Given the description of an element on the screen output the (x, y) to click on. 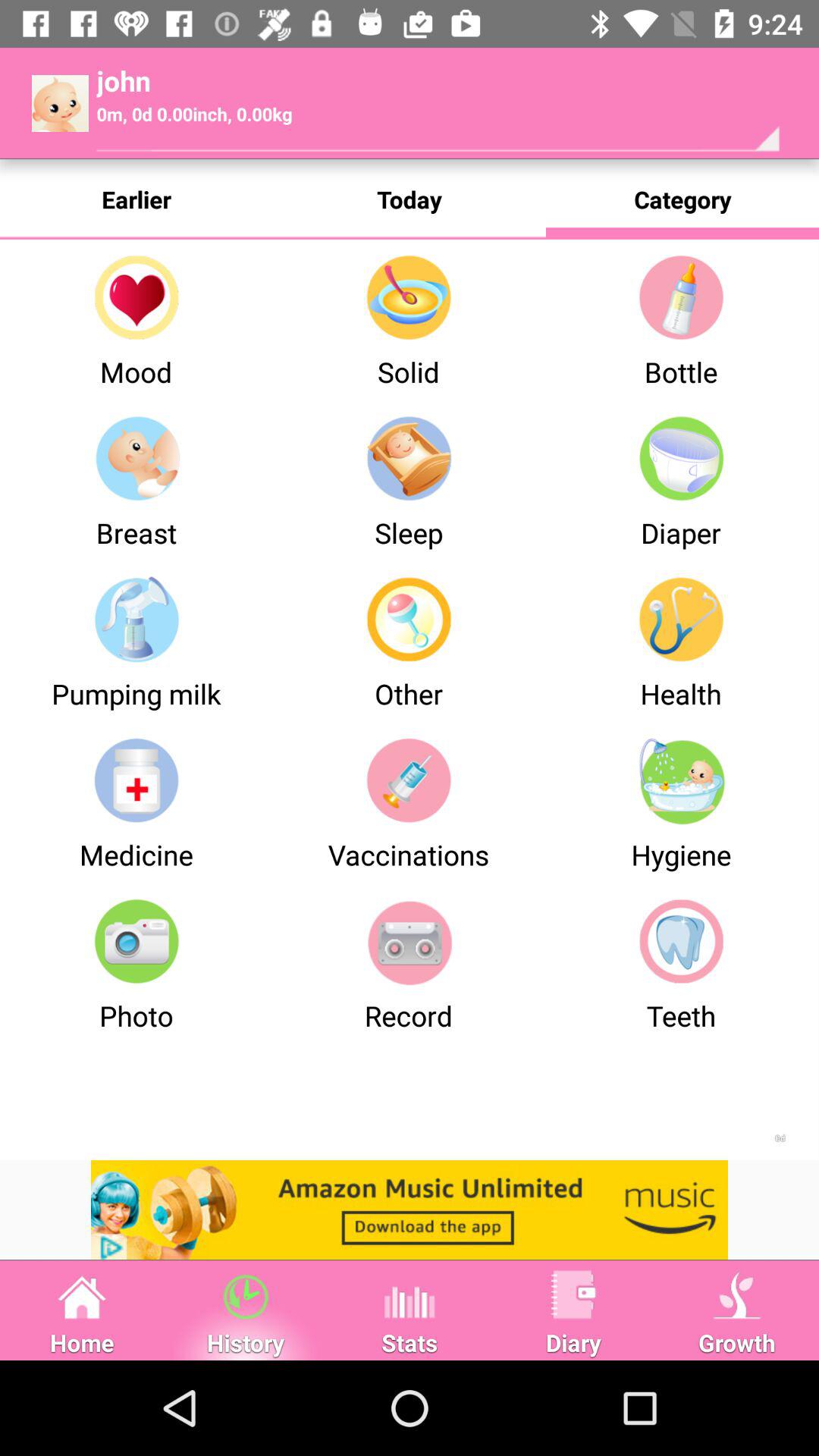
advertisement website (409, 1209)
